Given the description of an element on the screen output the (x, y) to click on. 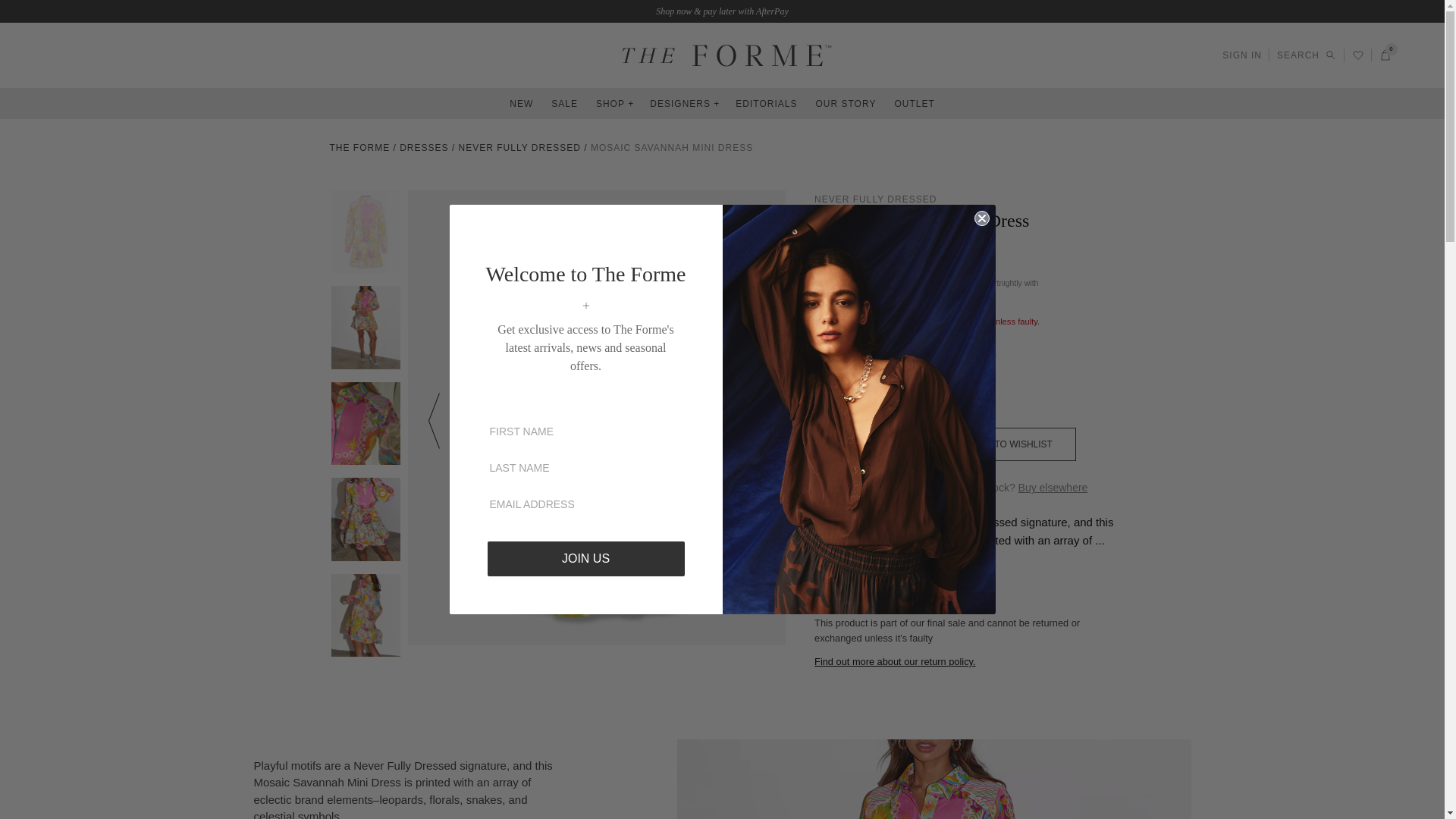
12 (939, 386)
0 (1384, 55)
14 (977, 386)
10 (903, 386)
8 (866, 386)
6 (828, 386)
SEARCH (1306, 55)
SIGN IN (1242, 54)
Home (359, 147)
